Given the description of an element on the screen output the (x, y) to click on. 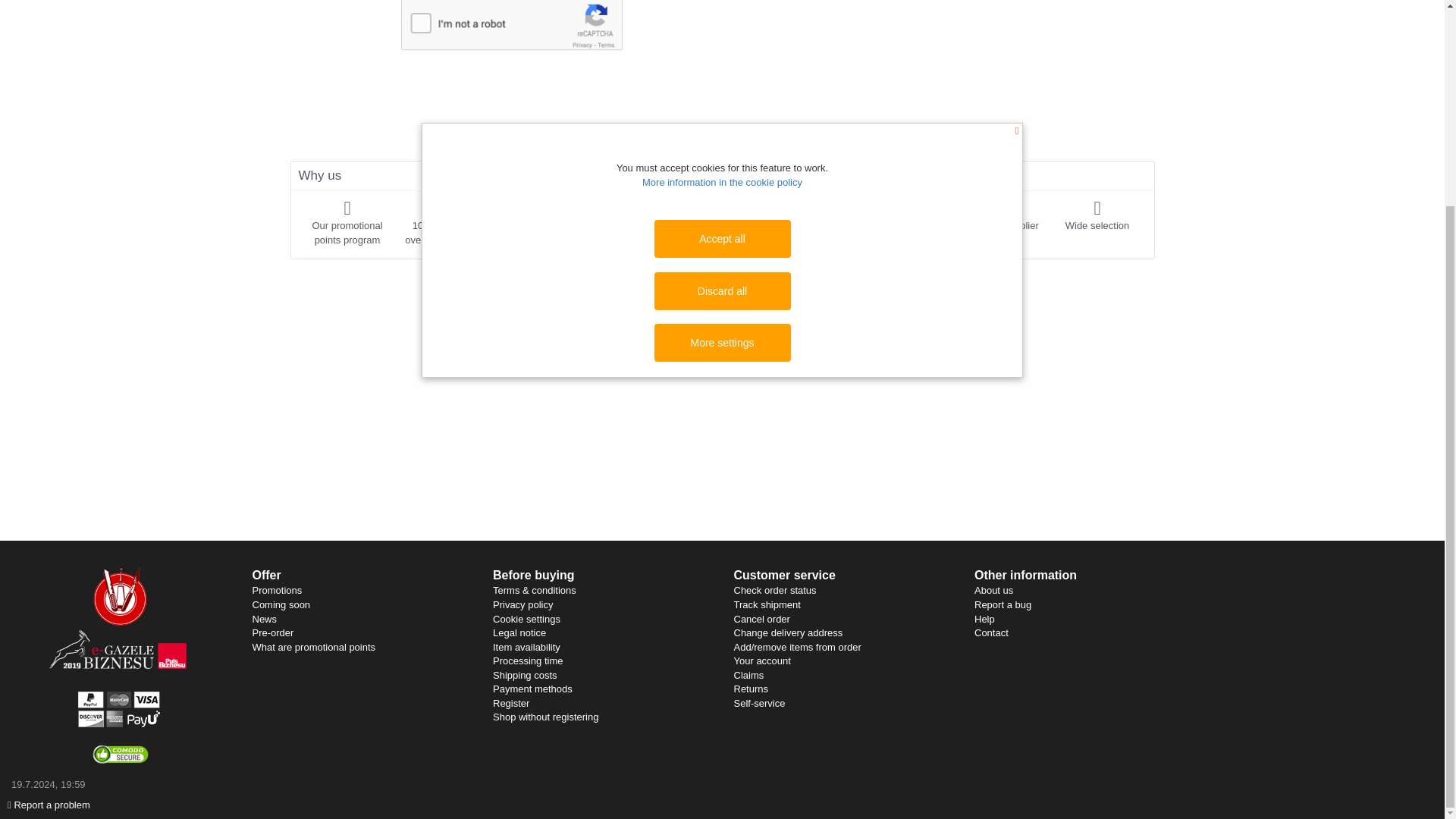
Secure payment through PayU, PayPal, or C.O.D. (628, 222)
We've been around since 2014 - read more about our company (1003, 215)
Report a problem (48, 539)
